Given the description of an element on the screen output the (x, y) to click on. 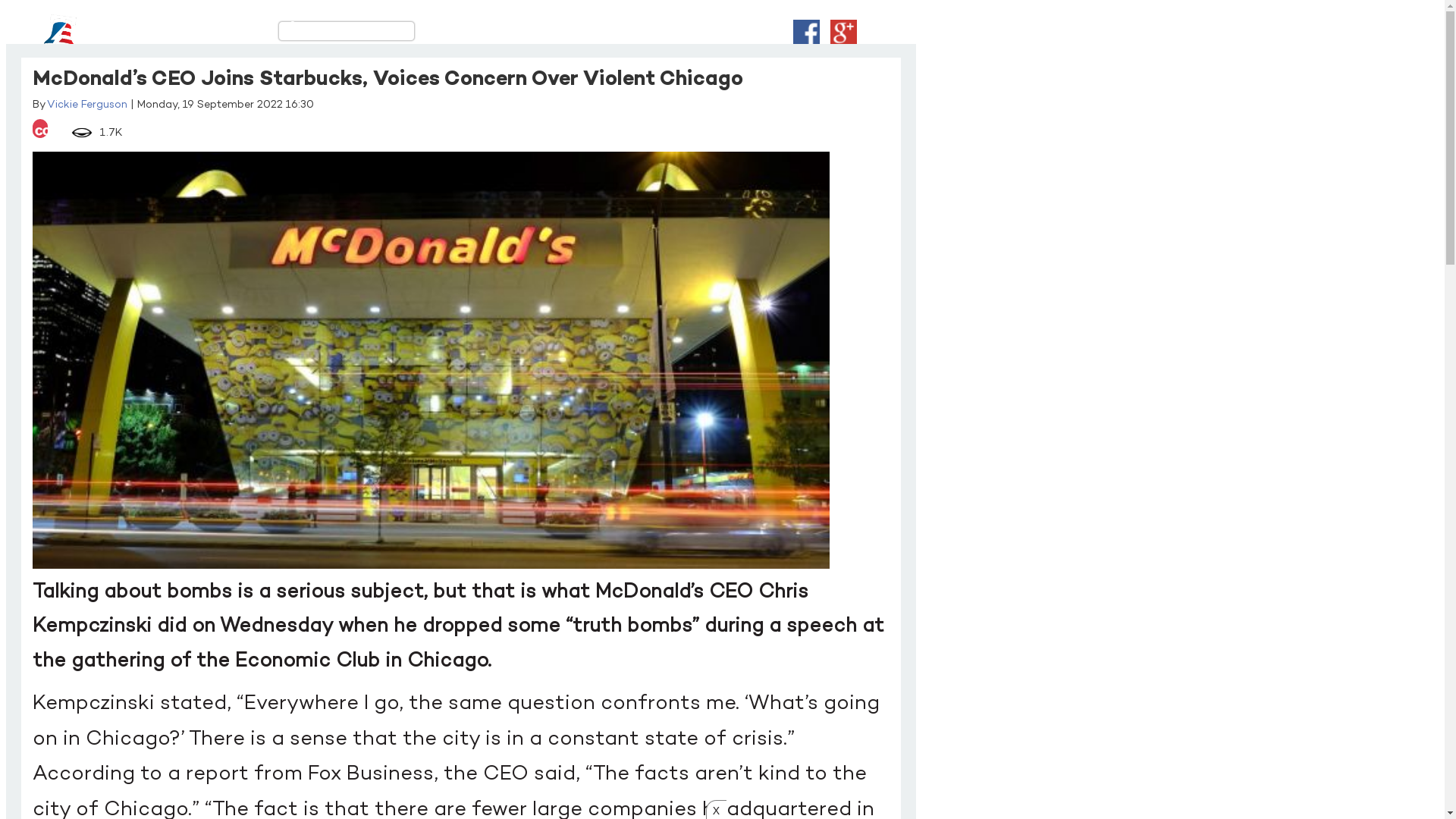
Vickie Ferguson Element type: text (87, 104)
4 Element type: text (39, 128)
Login With Google Element type: hover (843, 32)
Click to preview image Element type: hover (430, 358)
Login With Twitter Element type: hover (872, 32)
Login With Facebook Element type: hover (806, 32)
Signup using email Element type: hover (902, 32)
